Given the description of an element on the screen output the (x, y) to click on. 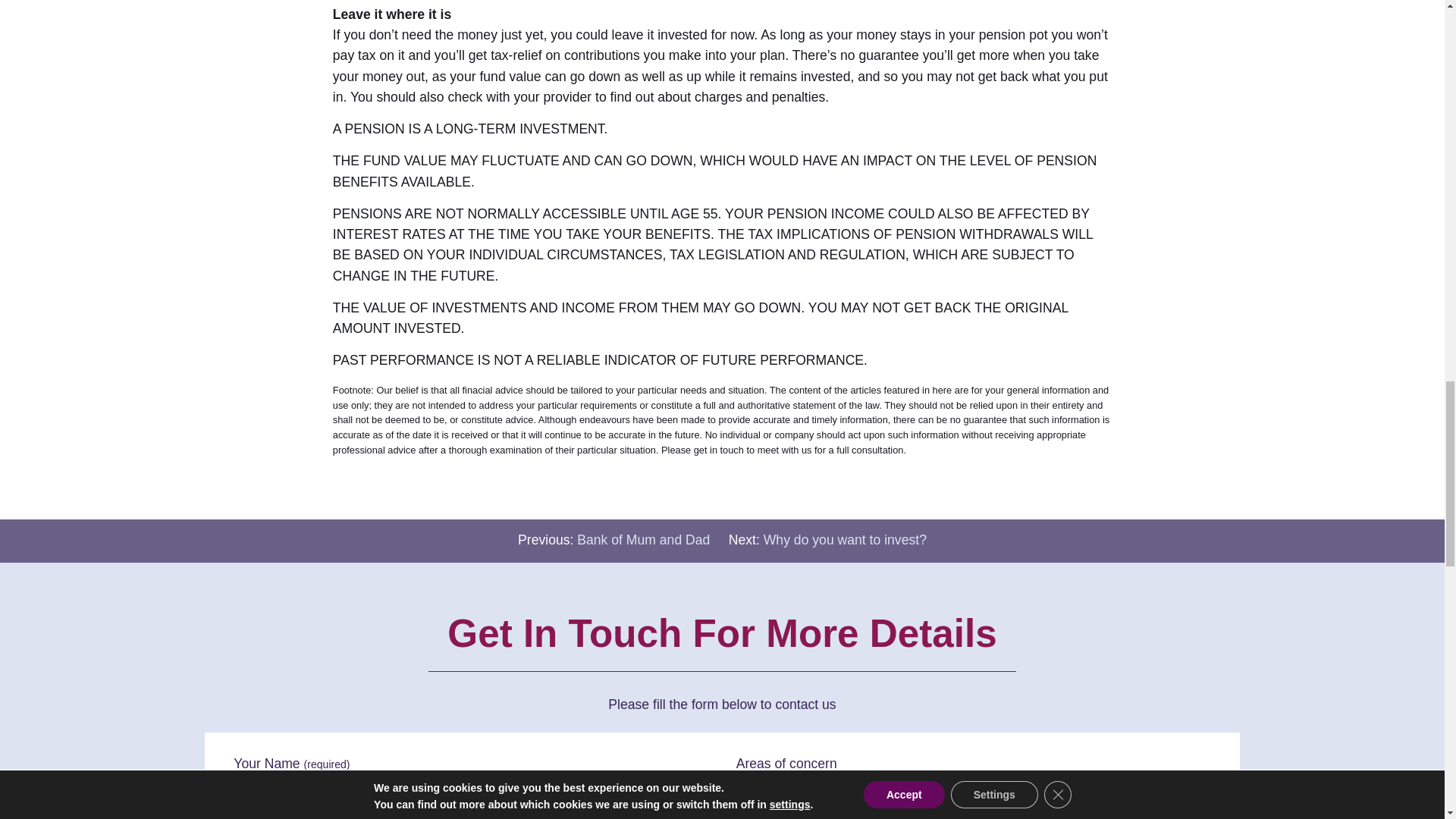
Individual services (746, 798)
Bank of Mum and Dad (643, 539)
Bank of Mum and Dad (643, 539)
Why do you want to invest? (844, 539)
Why do you want to invest? (844, 539)
